Given the description of an element on the screen output the (x, y) to click on. 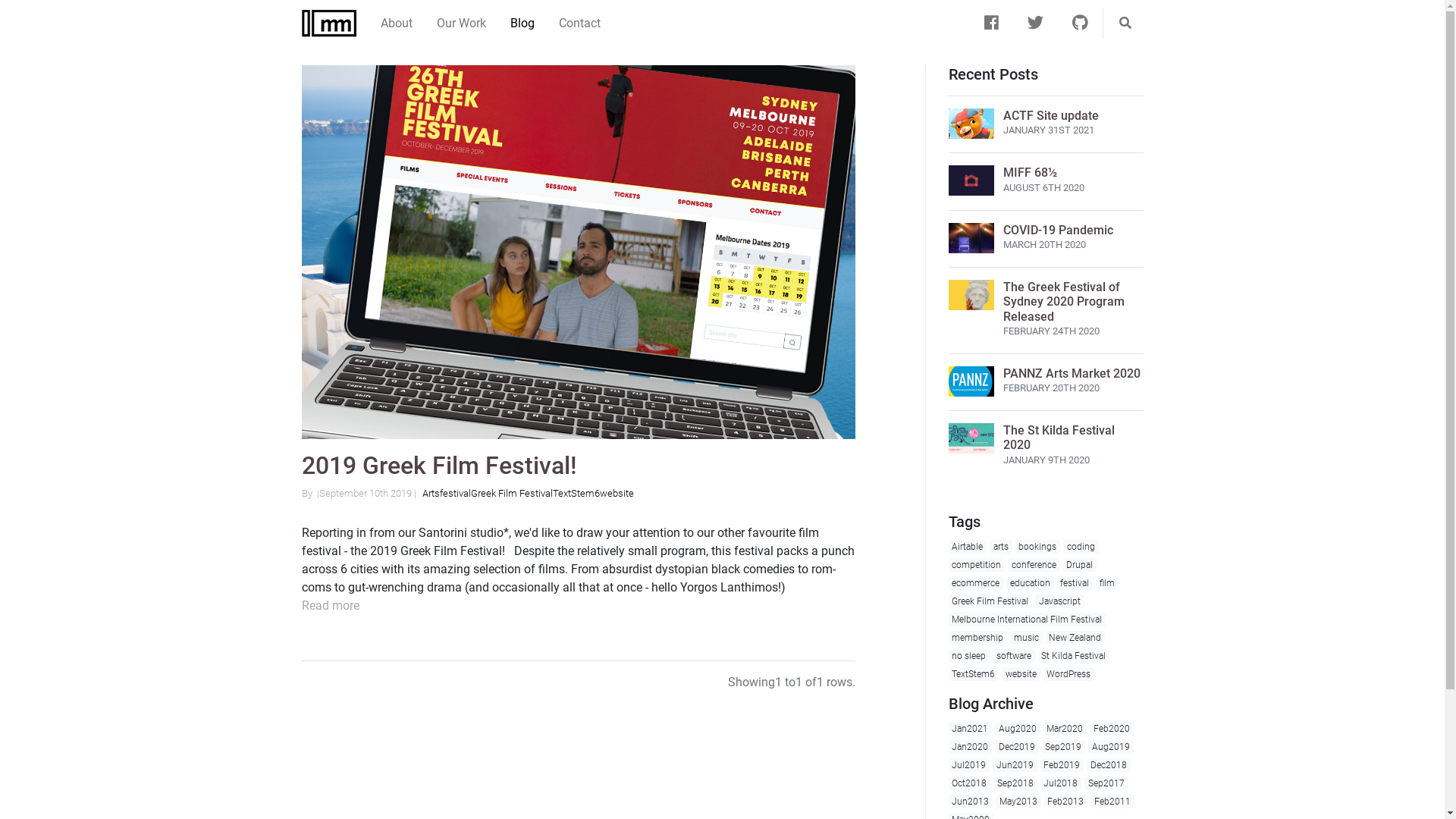
Greek Film Festival Element type: text (511, 492)
competition Element type: text (975, 564)
Dec2019 Element type: text (1016, 746)
Github
Link to github Element type: text (1079, 23)
Feb2019 Element type: text (1062, 764)
Jan2020 Element type: text (969, 746)
Greek Film Festival Element type: text (989, 601)
Airtable Element type: text (966, 546)
Search Mecca Medialight
Search this website Element type: text (1125, 23)
Melbourne International Film Festival Element type: text (1026, 619)
WordPress Element type: text (1069, 673)
no sleep Element type: text (968, 655)
Facebook
Link to our facebook page Element type: text (991, 23)
Sep2019 Element type: text (1063, 746)
Sep2018 Element type: text (1015, 783)
St Kilda Festival Element type: text (1074, 655)
Twitter
Link to twitter Element type: text (1035, 23)
coding Element type: text (1080, 546)
2019 Greek Film Festival! Element type: text (439, 465)
About Element type: text (396, 23)
Arts Element type: text (430, 492)
Feb2013 Element type: text (1066, 801)
Sep2017 Element type: text (1106, 783)
Our Work Element type: text (461, 23)
music Element type: text (1026, 637)
Drupal Element type: text (1080, 564)
Read more Element type: text (330, 605)
TextStem6 Element type: text (575, 492)
website Element type: text (1020, 673)
Dec2018 Element type: text (1108, 764)
PANNZ Arts Market 2020 Element type: text (1070, 373)
Contact Element type: text (578, 23)
bookings Element type: text (1037, 546)
festival Element type: text (1075, 582)
Festival Element type: text (454, 492)
ACTF Site update Element type: text (1050, 115)
Feb2020 Element type: text (1111, 728)
The St Kilda Festival 2020 Element type: text (1057, 437)
arts Element type: text (1000, 546)
Jun2013 Element type: text (969, 801)
Aug2019 Element type: text (1110, 746)
Aug2020 Element type: text (1017, 728)
film Element type: text (1106, 582)
conference Element type: text (1033, 564)
New Zealand Element type: text (1075, 637)
Mar2020 Element type: text (1065, 728)
Jul2019 Element type: text (968, 764)
education Element type: text (1030, 582)
Oct2018 Element type: text (968, 783)
Jan2021 Element type: text (969, 728)
Blog Element type: text (521, 23)
Javascript Element type: text (1059, 601)
ecommerce Element type: text (975, 582)
Website Element type: text (616, 492)
Jun2019 Element type: text (1014, 764)
May2013 Element type: text (1018, 801)
software Element type: text (1013, 655)
Feb2011 Element type: text (1112, 801)
COVID-19 Pandemic Element type: text (1057, 229)
membership Element type: text (977, 637)
TextStem6 Element type: text (972, 673)
Jul2018 Element type: text (1061, 783)
The Greek Festival of Sydney 2020 Program Released Element type: text (1062, 301)
